Given the description of an element on the screen output the (x, y) to click on. 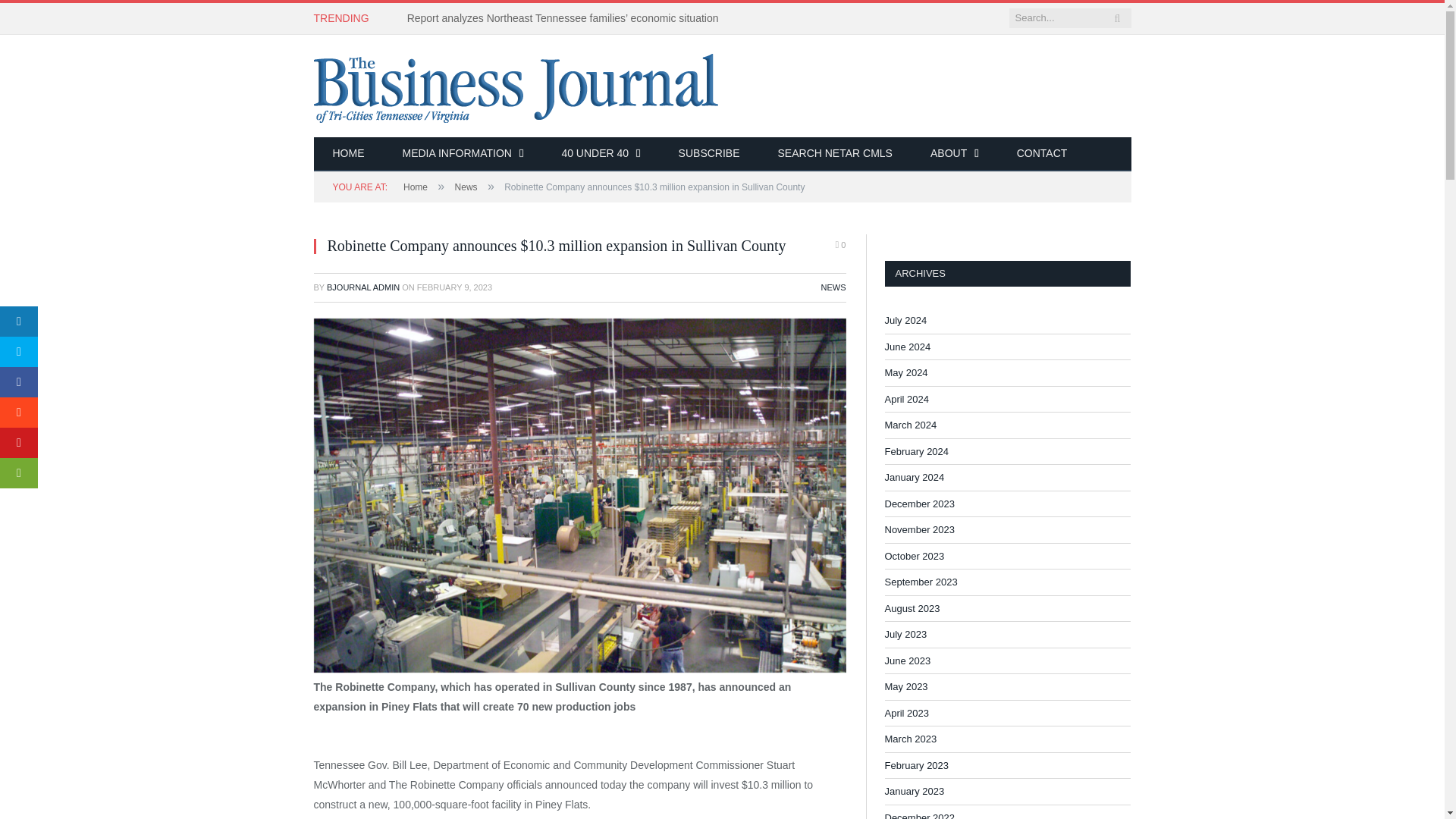
2023-02-09 (454, 286)
ABOUT (954, 154)
SEARCH NETAR CMLS (834, 154)
HOME (349, 154)
Posts by BJournal Admin (362, 286)
BJOURNAL ADMIN (362, 286)
News (465, 186)
The Business Journal (515, 85)
CONTACT (1041, 154)
SUBSCRIBE (708, 154)
NEWS (833, 286)
40 UNDER 40 (600, 154)
Home (415, 186)
MEDIA INFORMATION (463, 154)
